Given the description of an element on the screen output the (x, y) to click on. 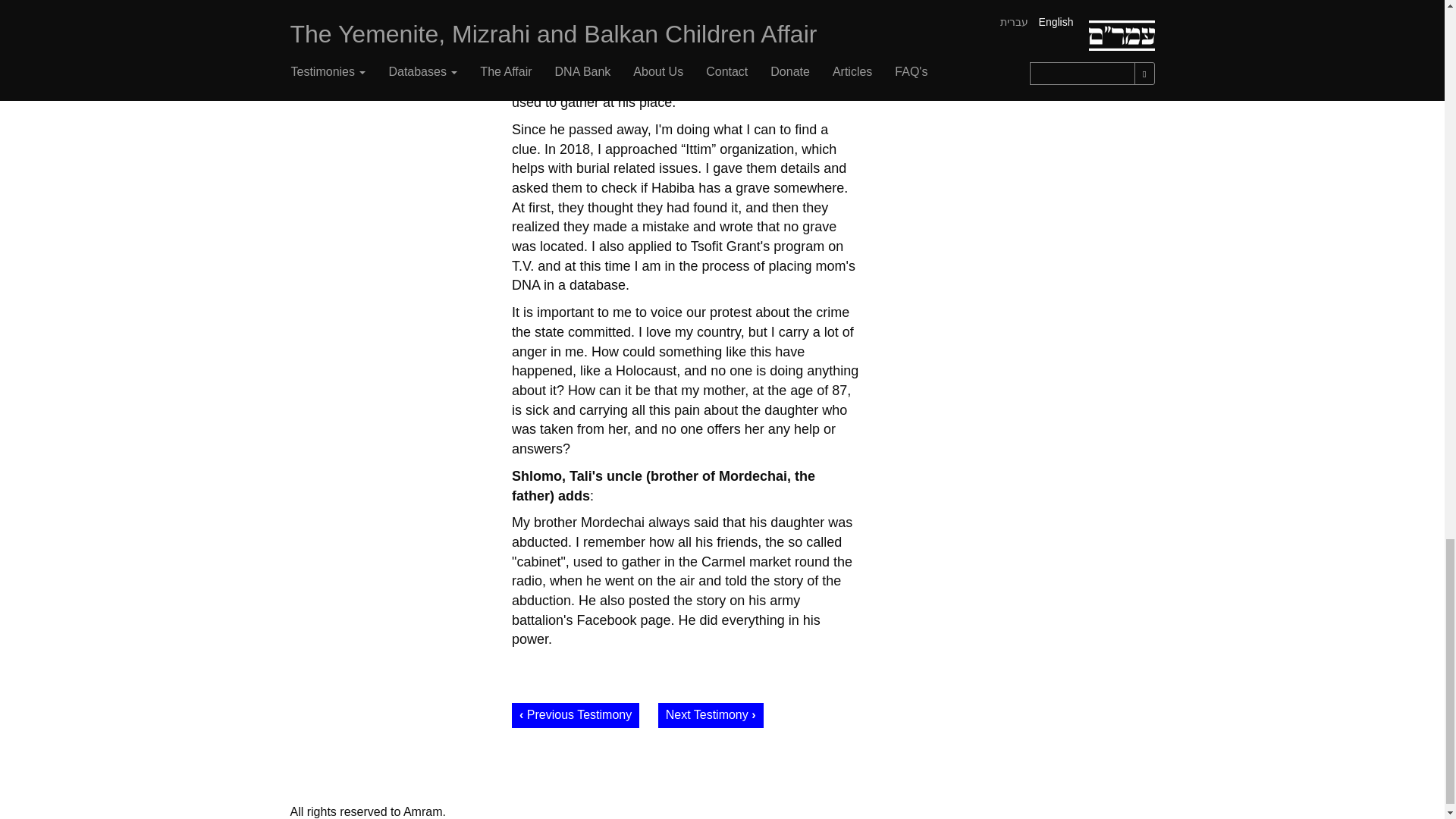
Previous Testimony (575, 715)
Next Testimony (710, 715)
